Given the description of an element on the screen output the (x, y) to click on. 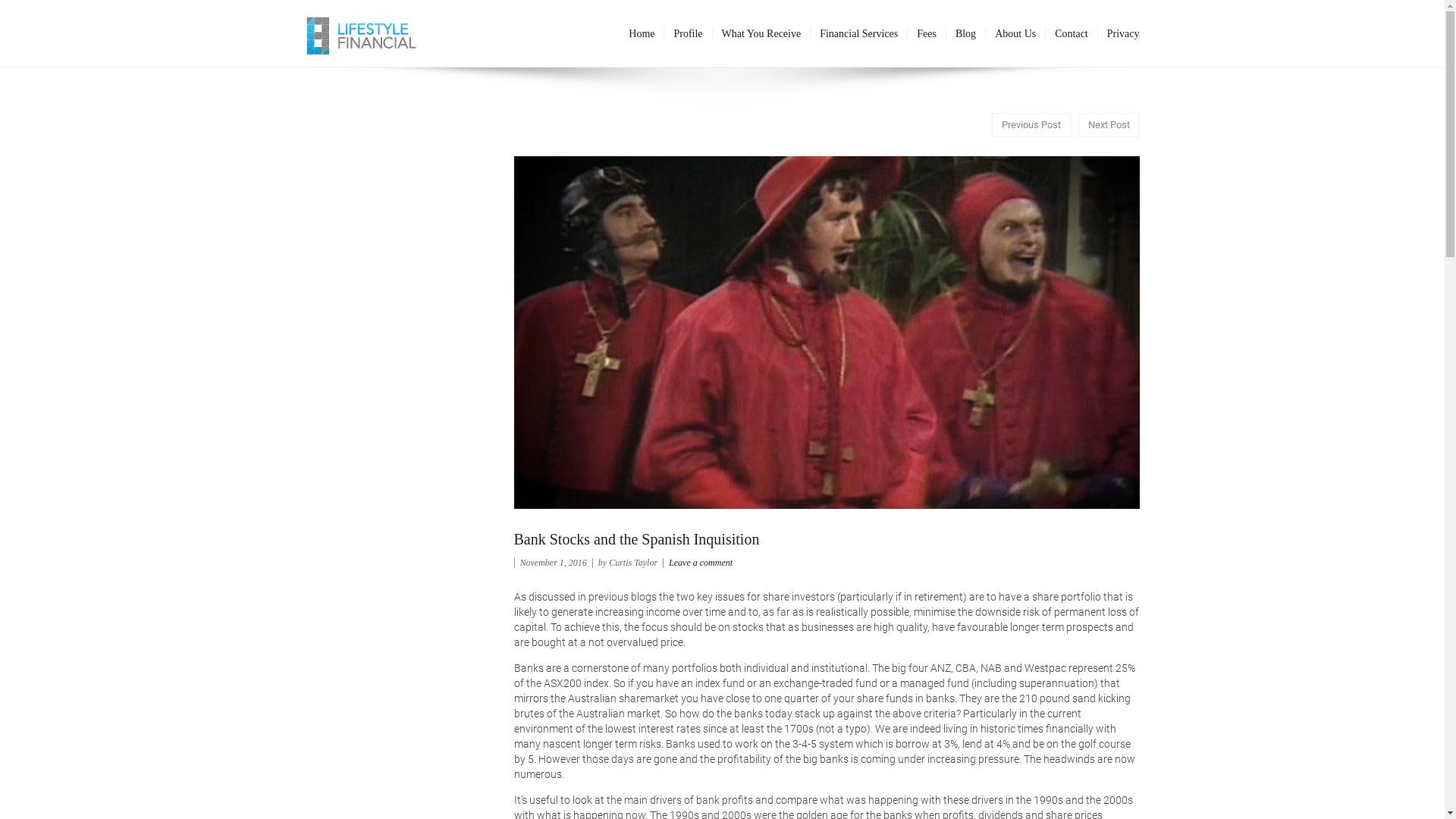
Contact Element type: text (1070, 33)
Home Element type: text (641, 33)
Bank Stocks and the Spanish Inquisition Element type: text (636, 538)
Fees Element type: text (925, 33)
What You Receive Element type: text (761, 33)
About Us Element type: text (1014, 33)
Blog Element type: text (965, 33)
Leave a comment Element type: text (700, 562)
Next Post Element type: text (1108, 124)
Previous Post Element type: text (1030, 124)
Profile Element type: text (687, 33)
Privacy Element type: text (1118, 33)
Financial Services Element type: text (857, 33)
